Given the description of an element on the screen output the (x, y) to click on. 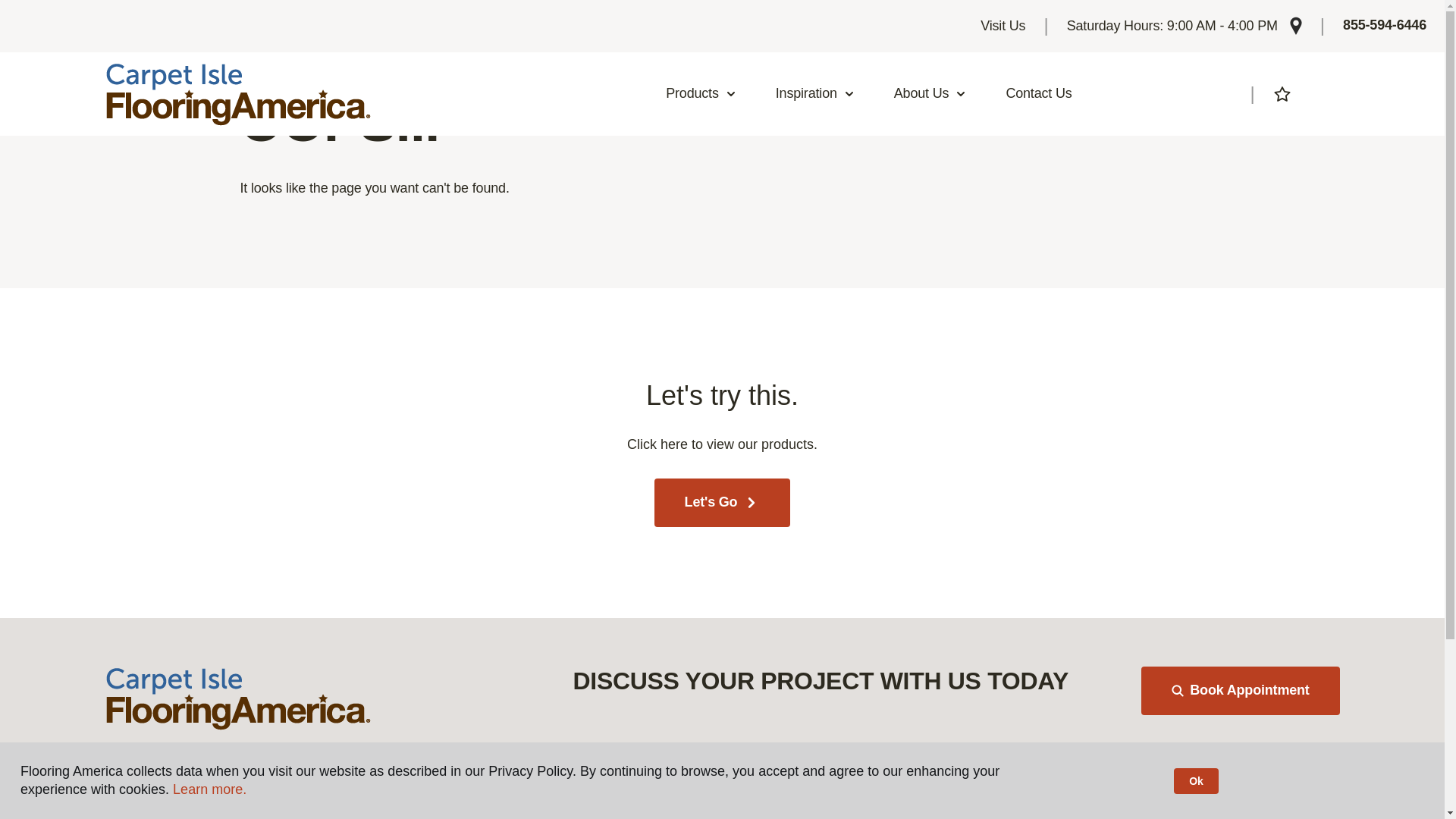
855-594-6446 (1384, 25)
Contact Us (1038, 94)
Inspiration (815, 94)
Products (700, 94)
Visit Us (1002, 26)
About Us (930, 94)
